Given the description of an element on the screen output the (x, y) to click on. 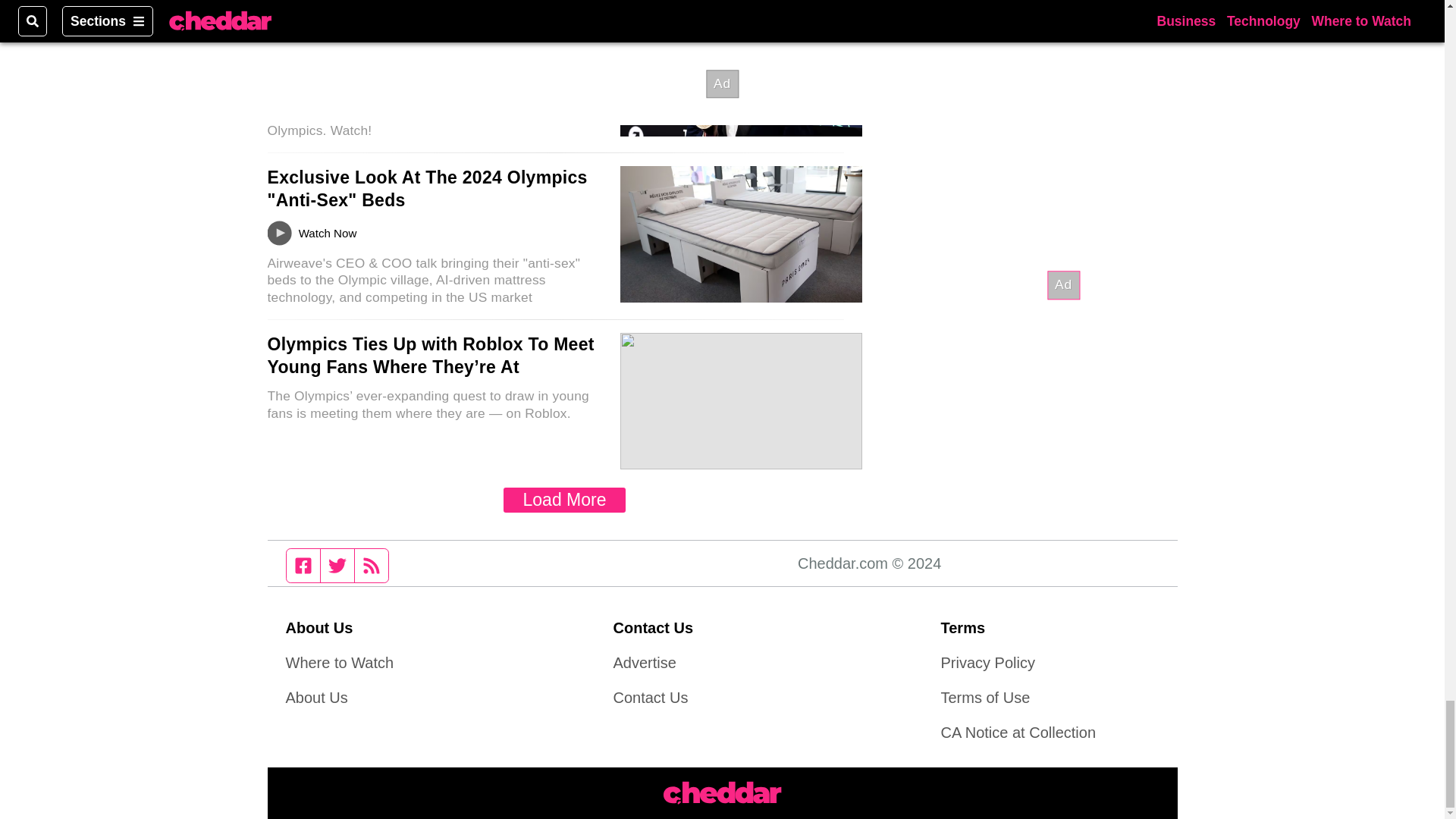
Load More (564, 499)
RSS feed (371, 565)
Exclusive Look At The 2024 Olympics "Anti-Sex" Beds (426, 188)
Twitter feed (336, 565)
Facebook page (303, 565)
Inside Day One From The Paris Olympics! (398, 22)
